Given the description of an element on the screen output the (x, y) to click on. 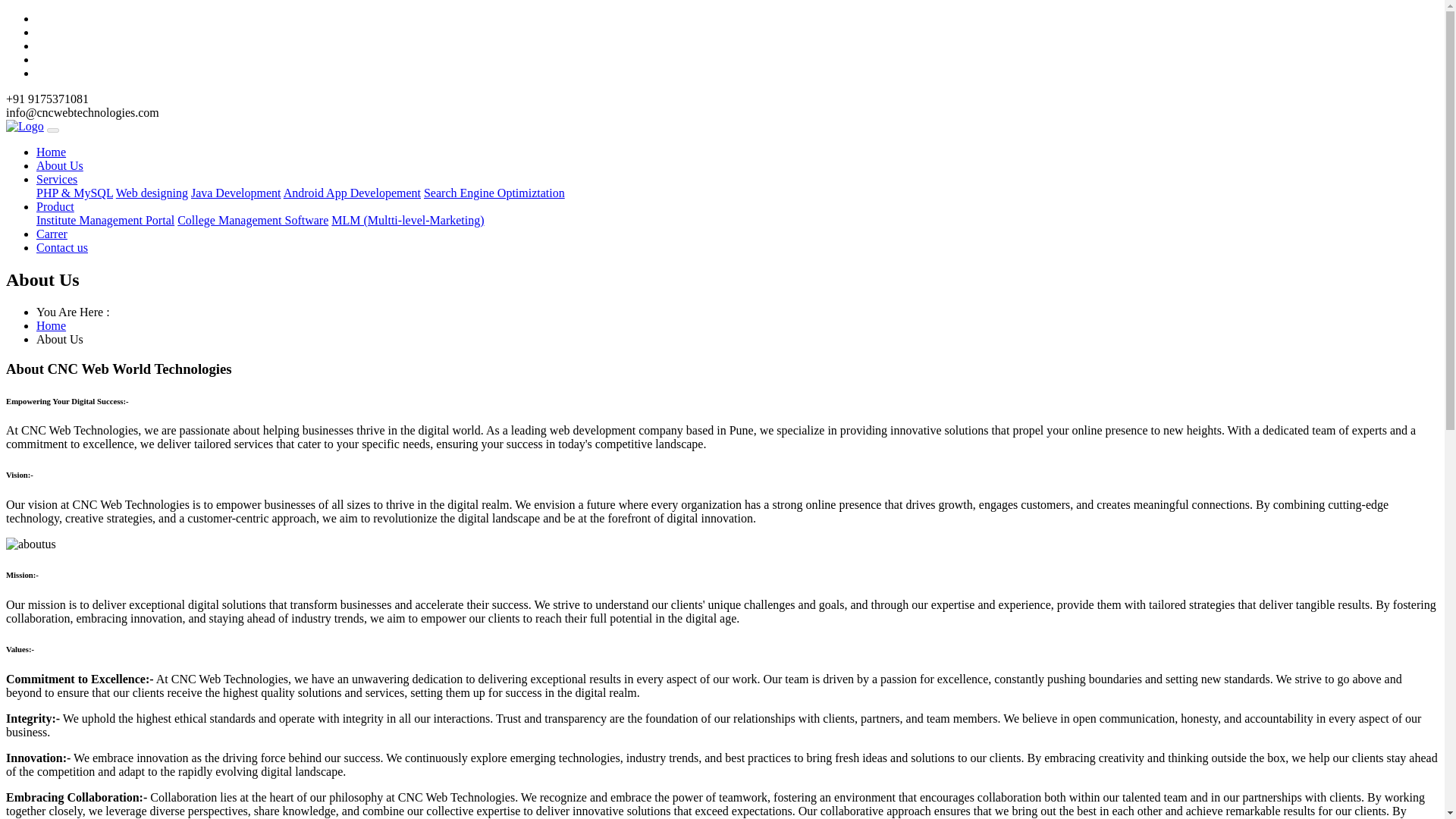
Home (50, 325)
Search Engine Optimiztation (493, 192)
Home (50, 151)
About Us (59, 164)
Contact us (61, 246)
Android App Developement (351, 192)
Java Development (235, 192)
Web designing (151, 192)
College Management Software (253, 219)
Institute Management Portal (105, 219)
Services (56, 178)
Product (55, 205)
Carrer (51, 233)
